Given the description of an element on the screen output the (x, y) to click on. 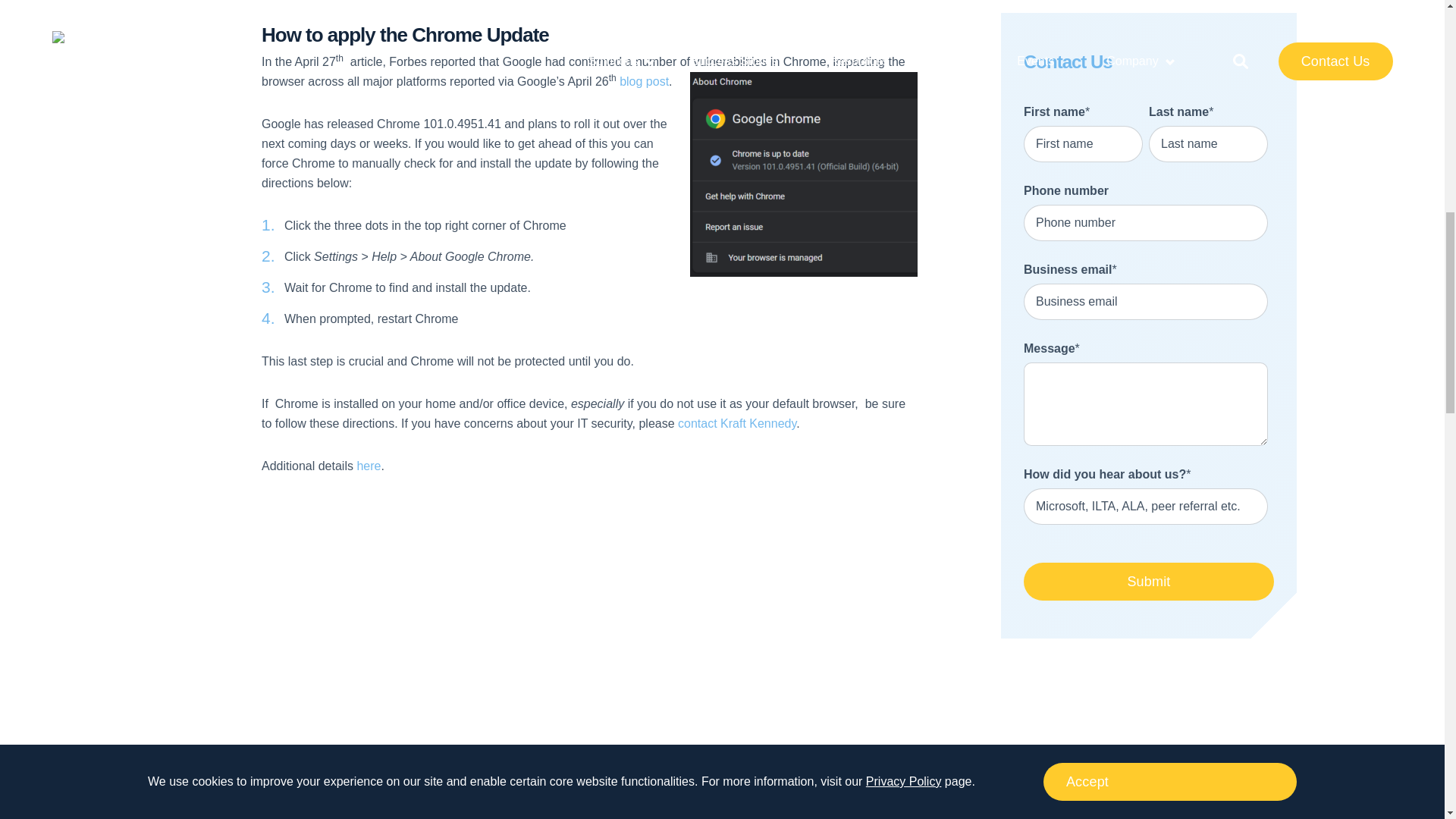
Submit (1148, 581)
